Given the description of an element on the screen output the (x, y) to click on. 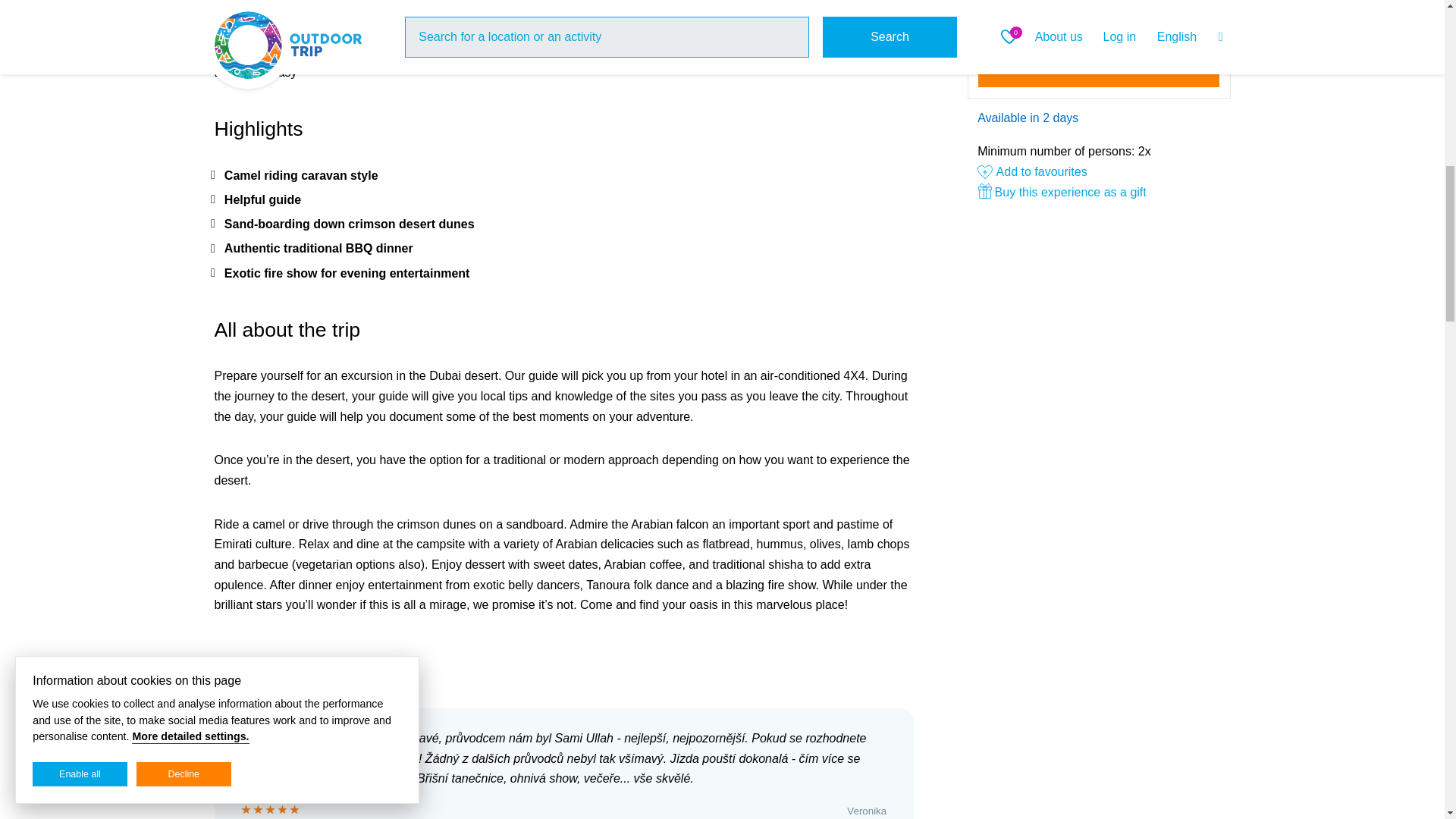
Add to favourites (1031, 172)
Camel Riding (388, 11)
Date and time (1099, 18)
Buy this experience as a gift (1098, 192)
4x4 Off-roading (304, 11)
Continue (1099, 66)
